Given the description of an element on the screen output the (x, y) to click on. 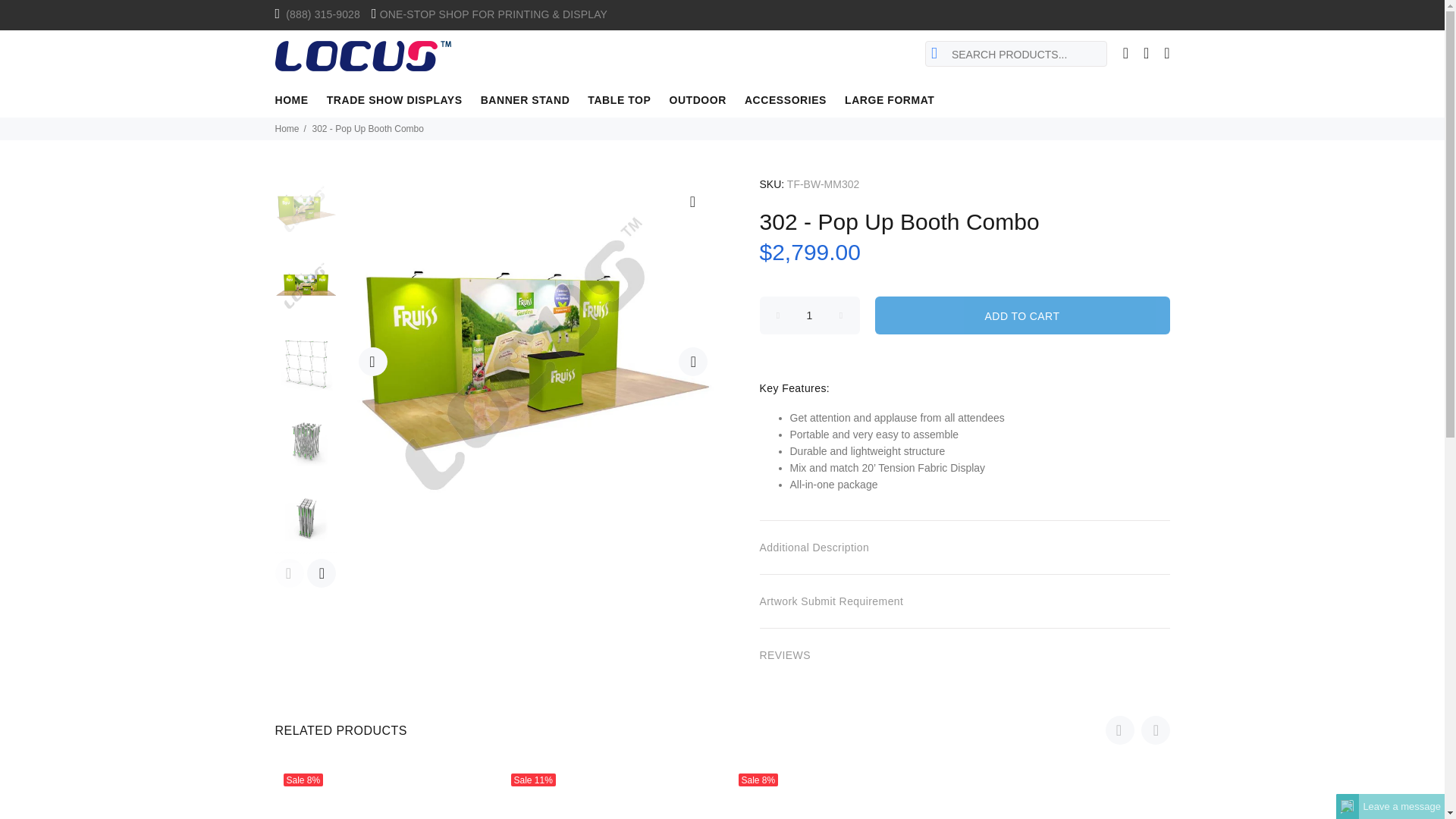
Offline (1347, 806)
1 (810, 315)
